Given the description of an element on the screen output the (x, y) to click on. 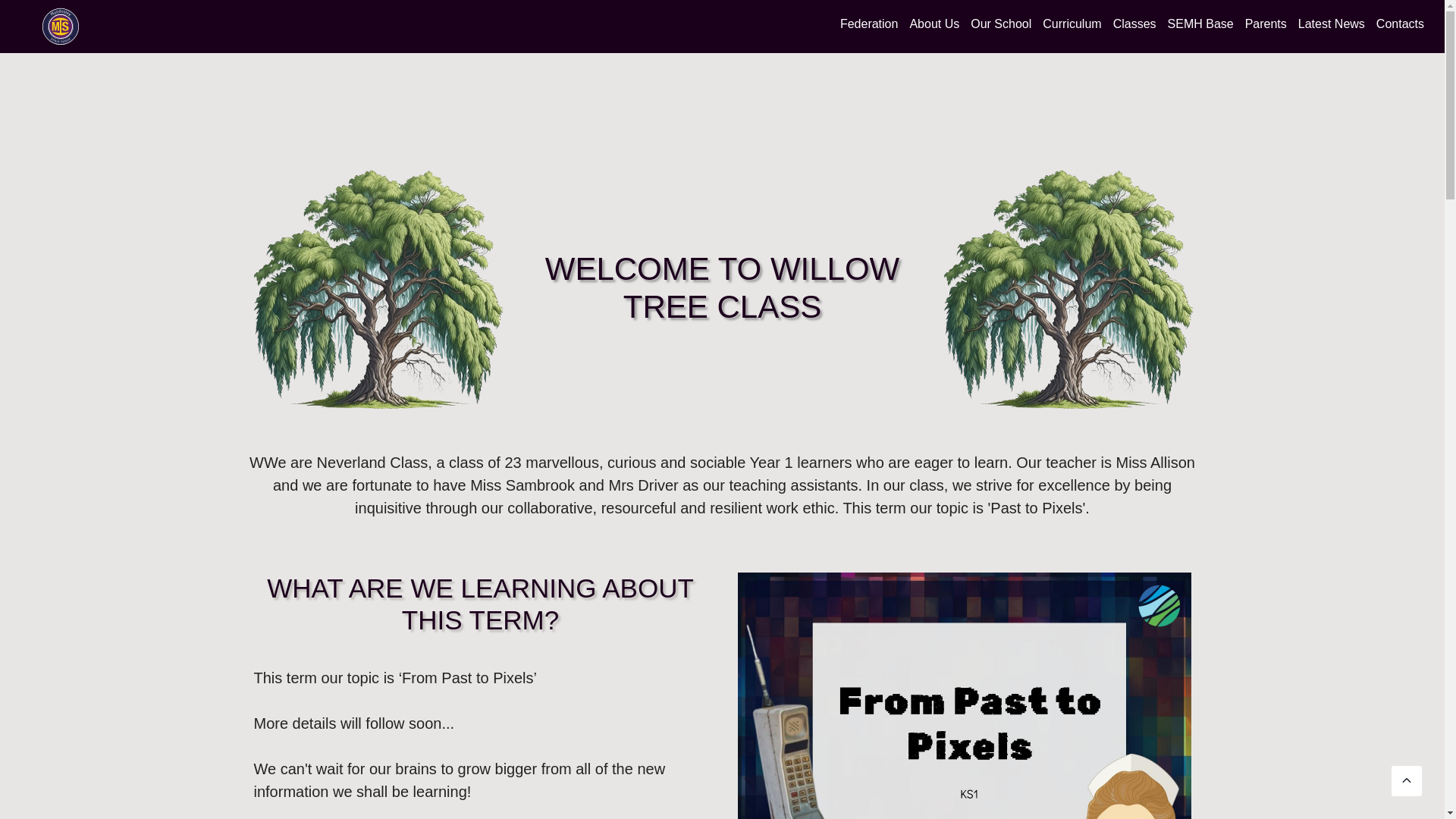
Willow Class Removebg Preview (1066, 287)
Contacts (1400, 23)
About Us (933, 23)
Federation (869, 23)
KS1 From Past To Pixels Planning Pack (963, 695)
Curriculum (1071, 23)
Our School (1000, 23)
Latest News (1331, 23)
Mundesley Infant School (61, 26)
Classes (1134, 23)
